Given the description of an element on the screen output the (x, y) to click on. 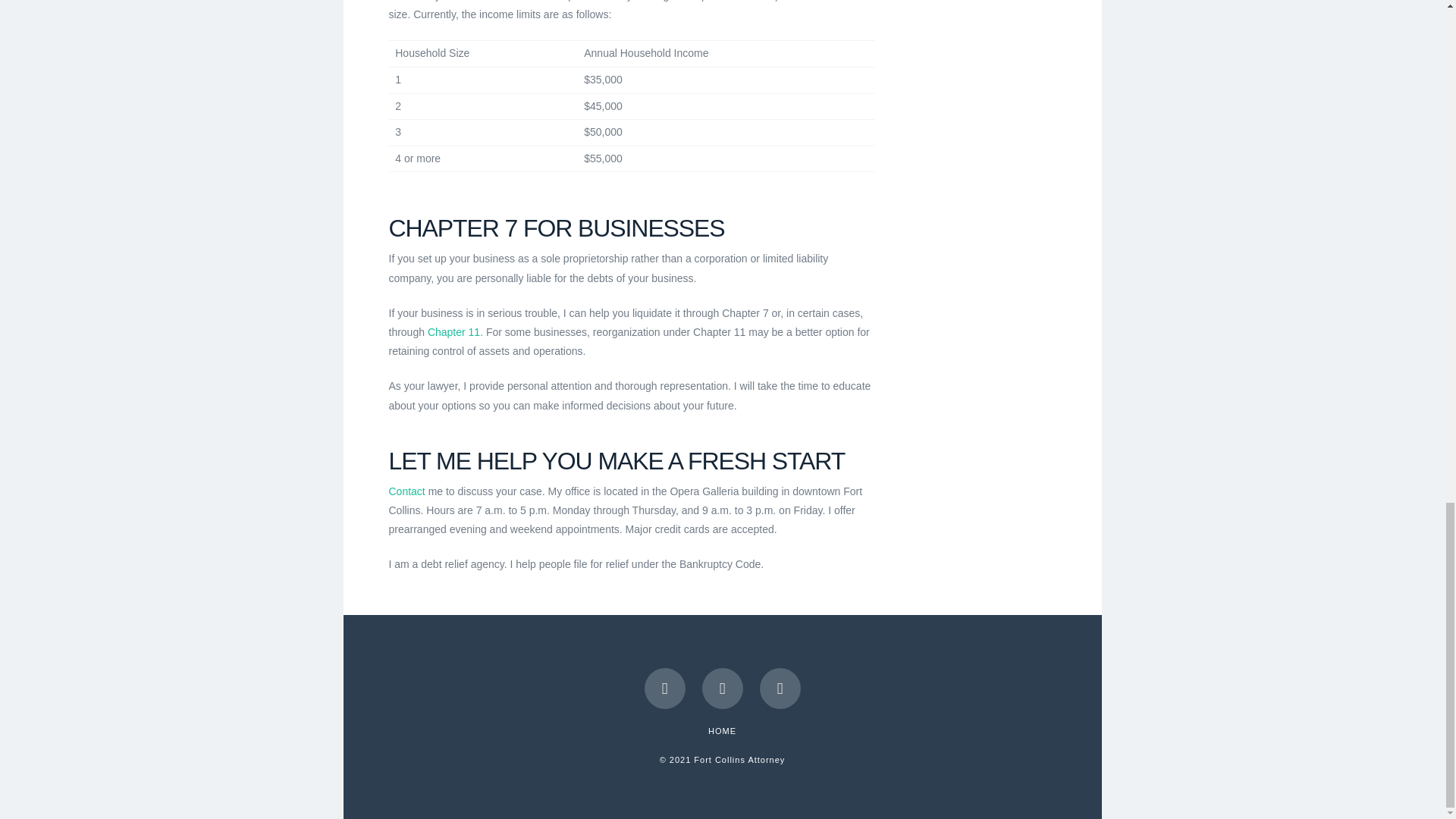
Twitter (721, 688)
Contact (406, 491)
Chapter 11. (455, 331)
Facebook (665, 688)
